Given the description of an element on the screen output the (x, y) to click on. 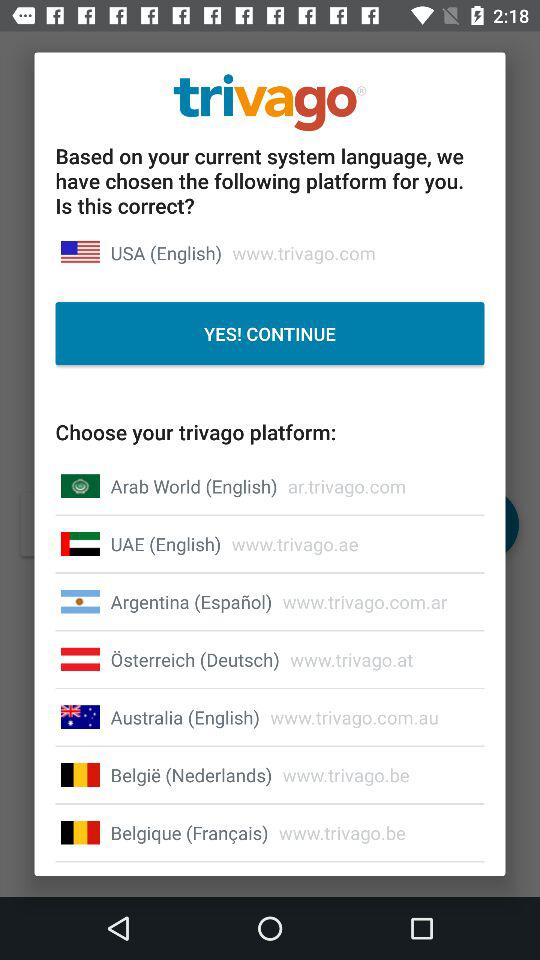
choose the icon to the left of www.trivago.be icon (189, 832)
